Given the description of an element on the screen output the (x, y) to click on. 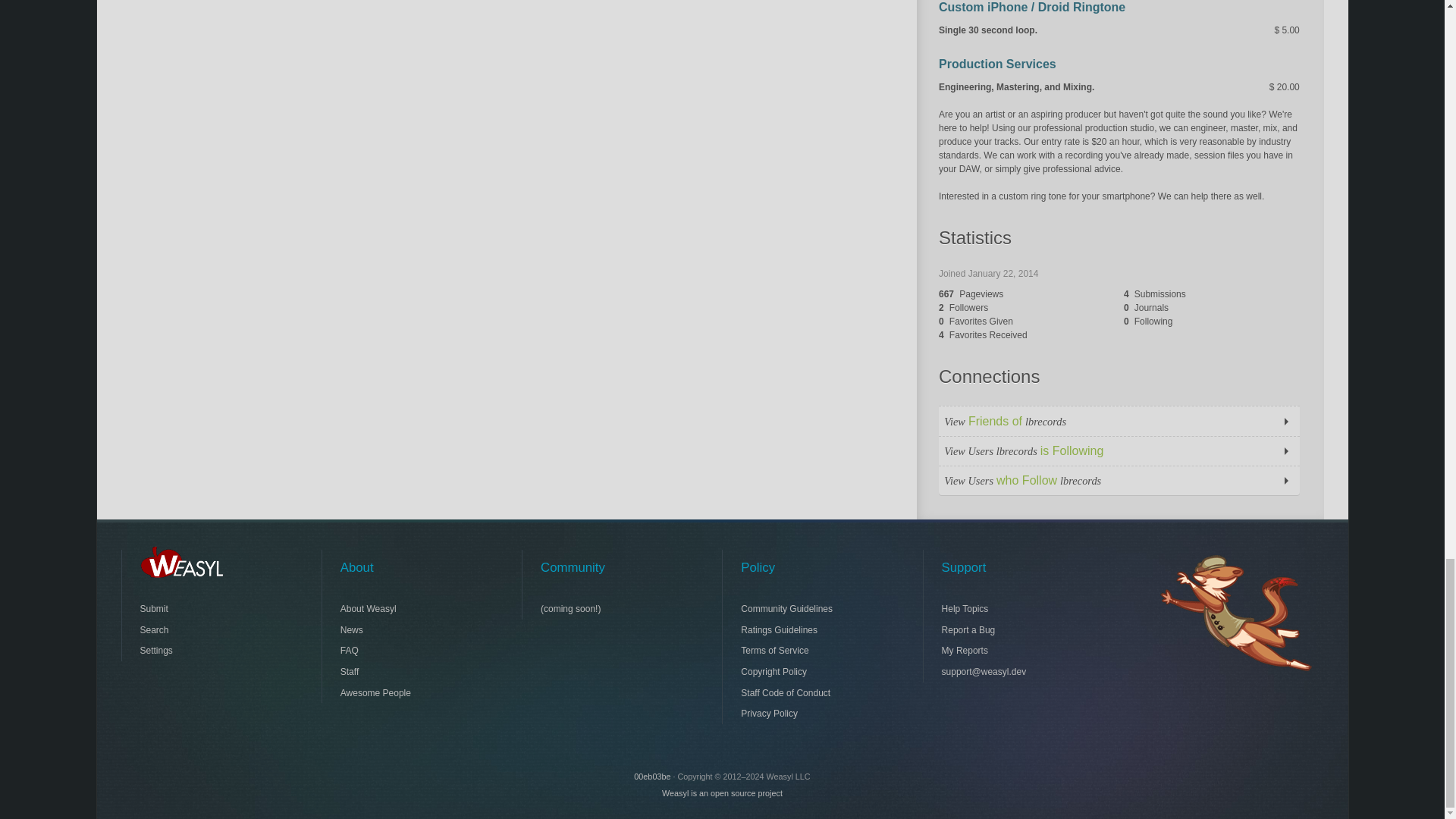
View Friends of lbrecords (1119, 419)
